Given the description of an element on the screen output the (x, y) to click on. 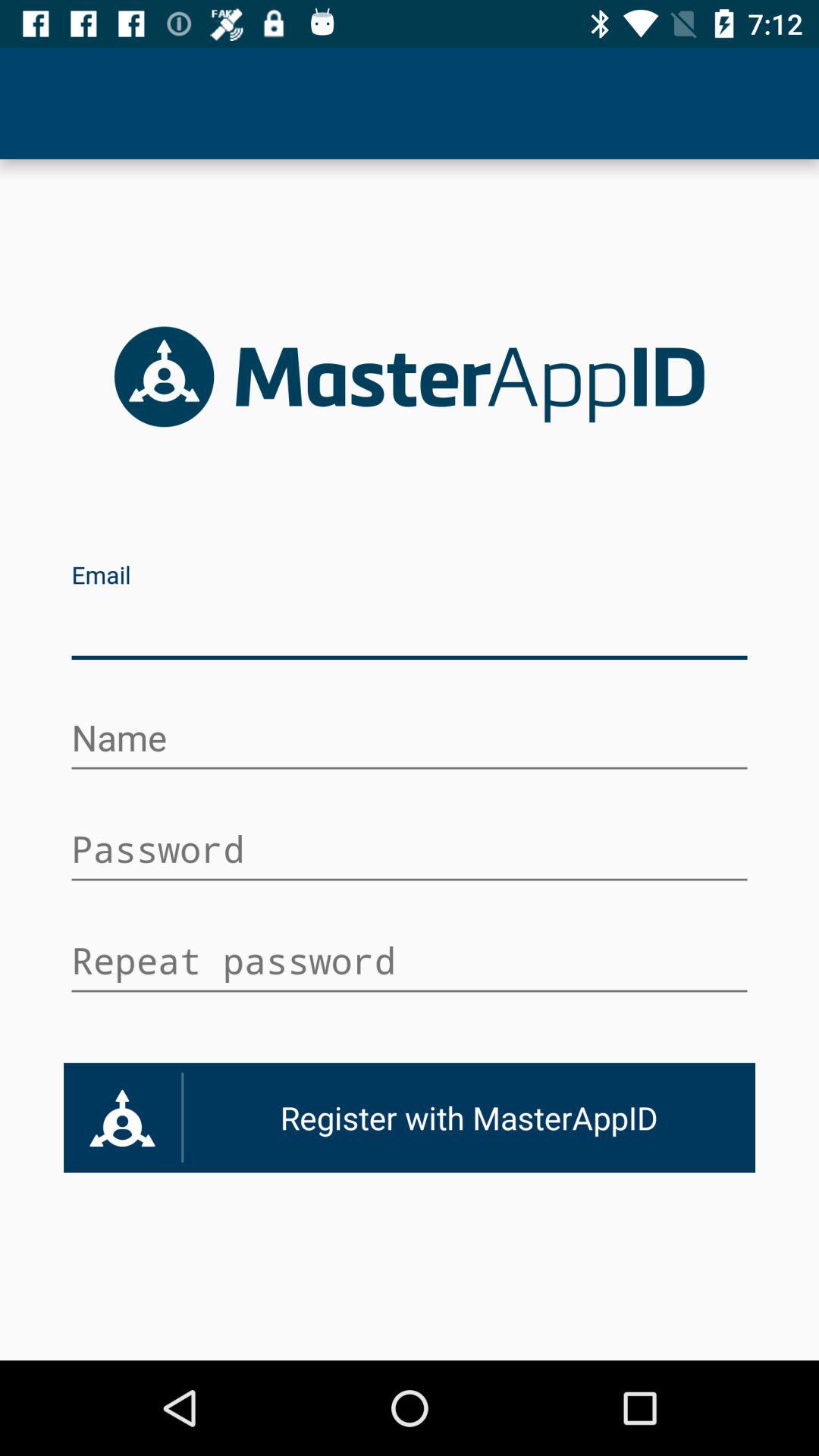
enter password again (409, 962)
